Given the description of an element on the screen output the (x, y) to click on. 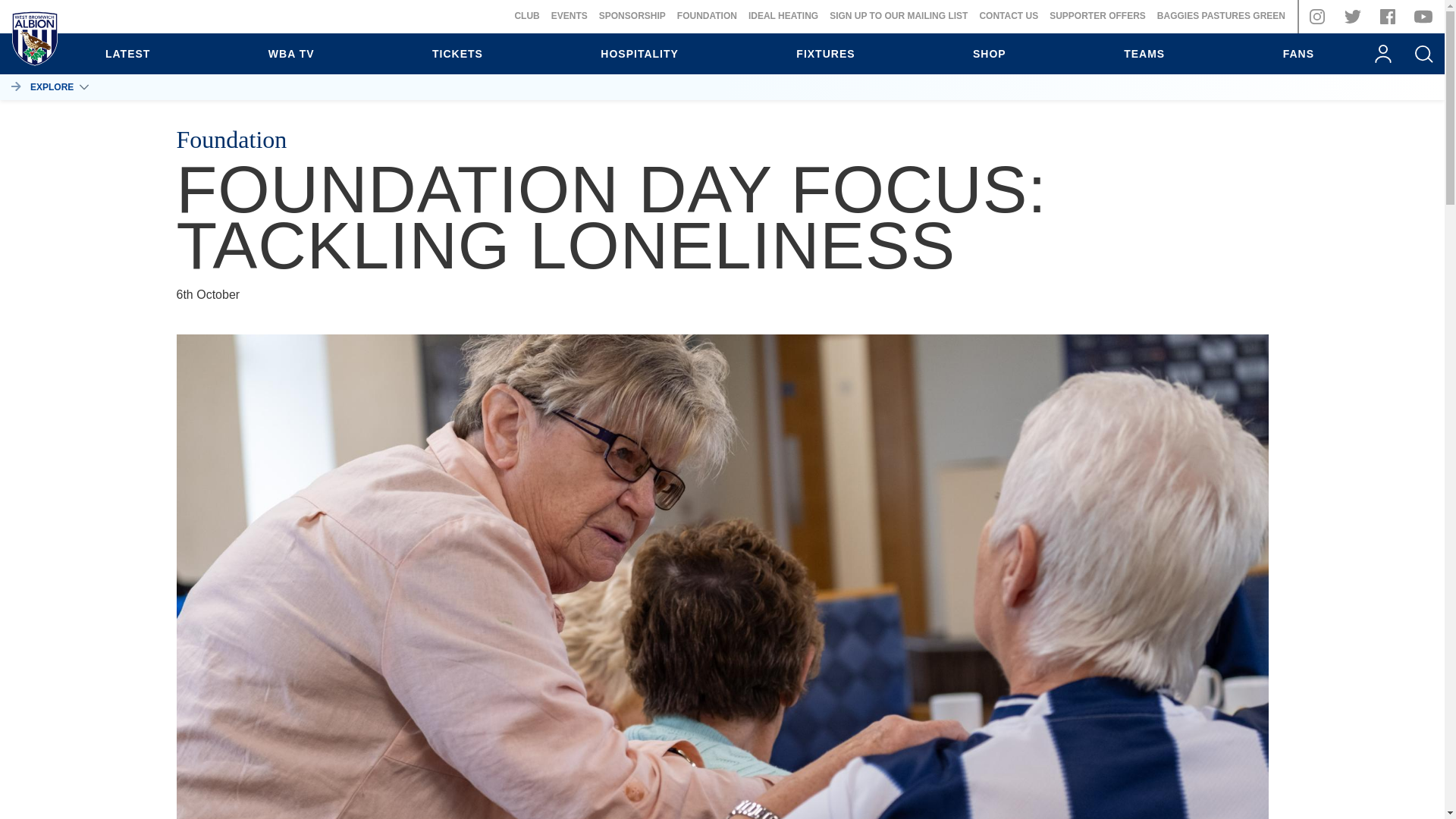
EVENTS (569, 15)
SUPPORTER OFFERS (1097, 15)
Latest (127, 53)
BAGGIES PASTURES GREEN (1221, 15)
The Albion Foundation (706, 15)
SPONSORSHIP (631, 15)
CLUB (525, 15)
CONTACT US (1008, 15)
FOUNDATION (706, 15)
SIGN UP TO OUR MAILING LIST (898, 15)
West Bromwich Albion (34, 41)
IDEAL HEATING (783, 15)
